Given the description of an element on the screen output the (x, y) to click on. 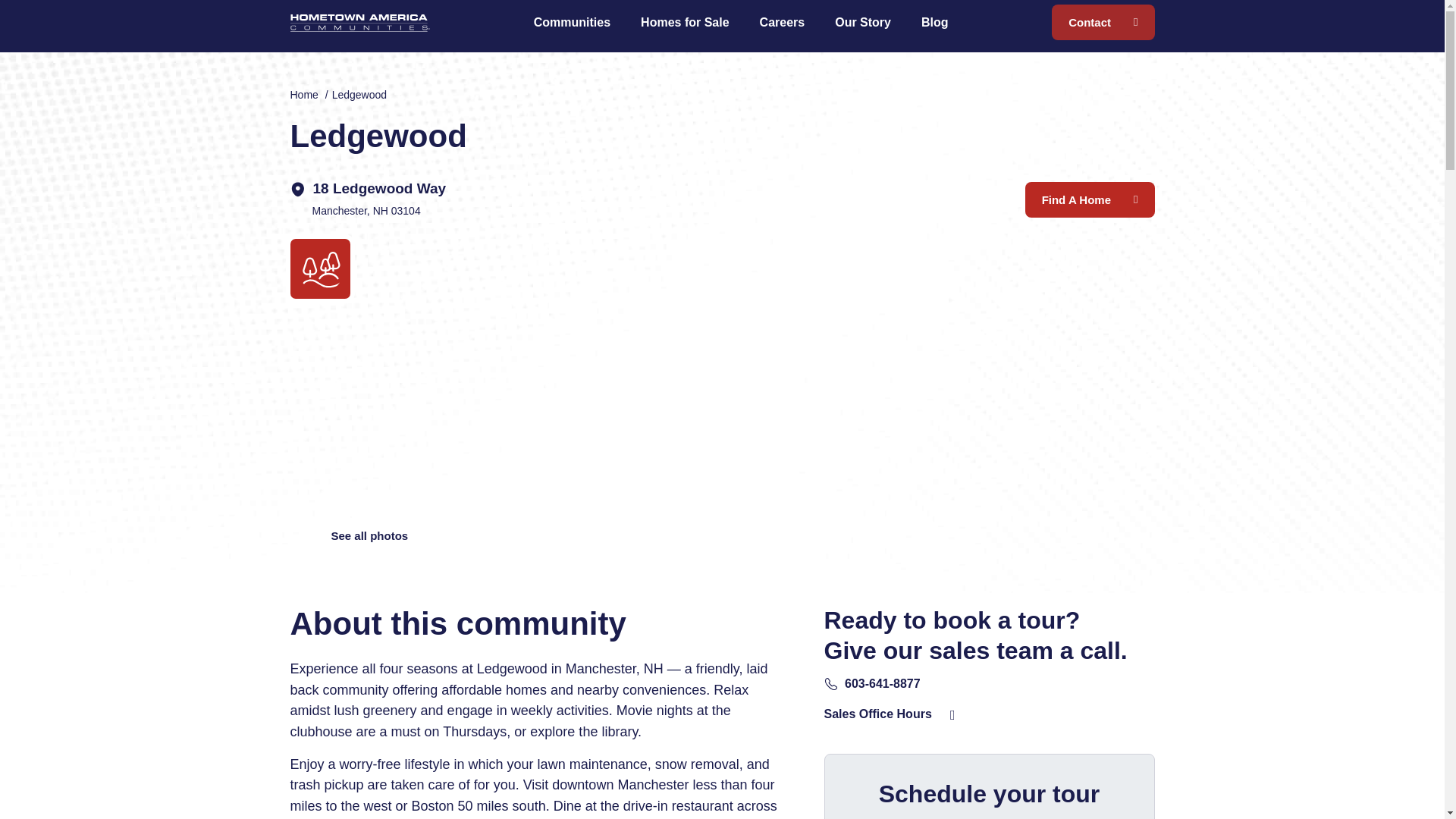
Sales Office Hours (877, 714)
Homes for Sale (685, 22)
Communities (572, 22)
Home (303, 94)
Find A Home (1089, 199)
Blog (934, 22)
Contact (1102, 22)
See all photos (369, 535)
Our Story (862, 22)
Careers (782, 22)
